Given the description of an element on the screen output the (x, y) to click on. 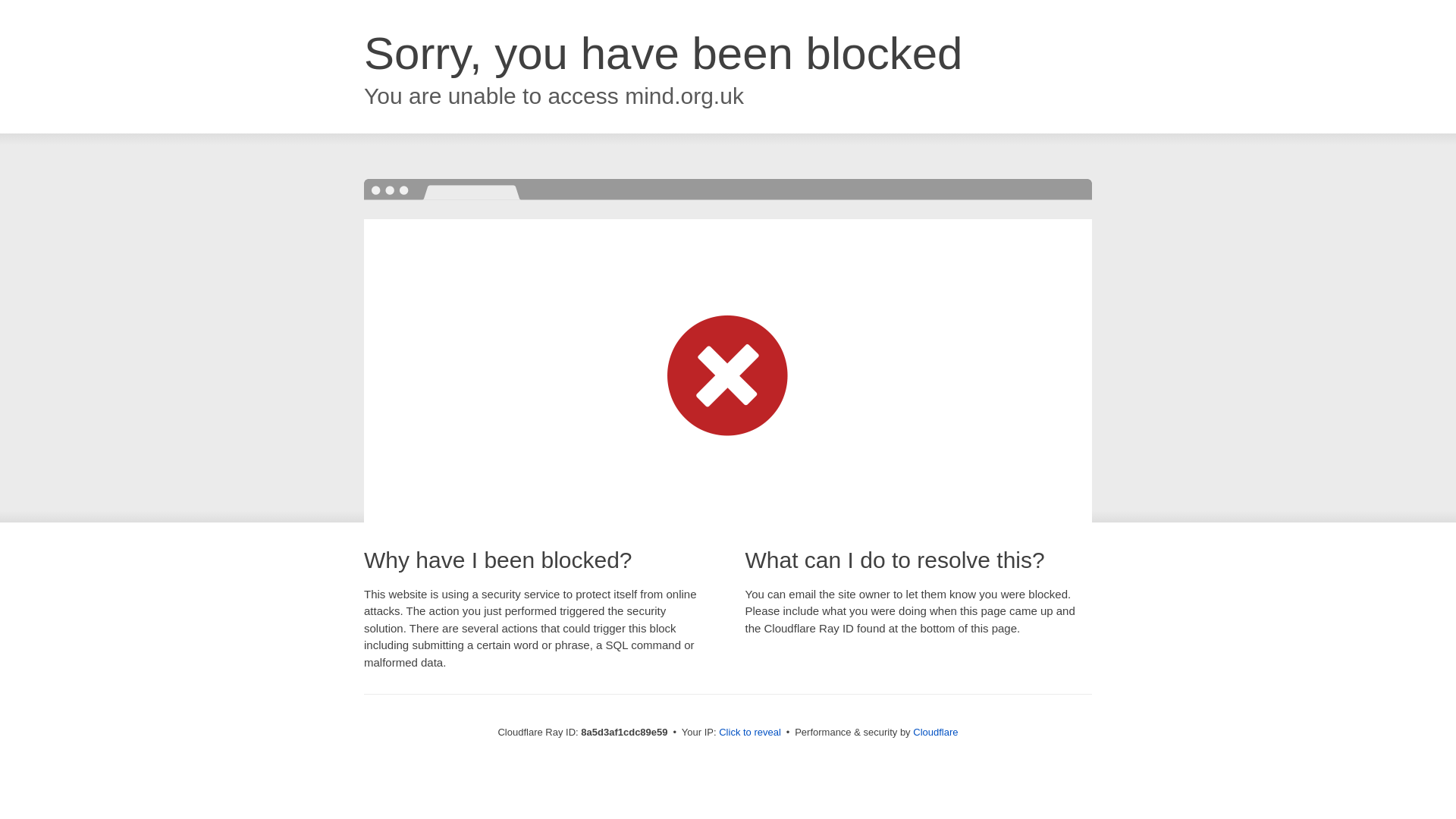
Click to reveal (749, 732)
Cloudflare (935, 731)
